Given the description of an element on the screen output the (x, y) to click on. 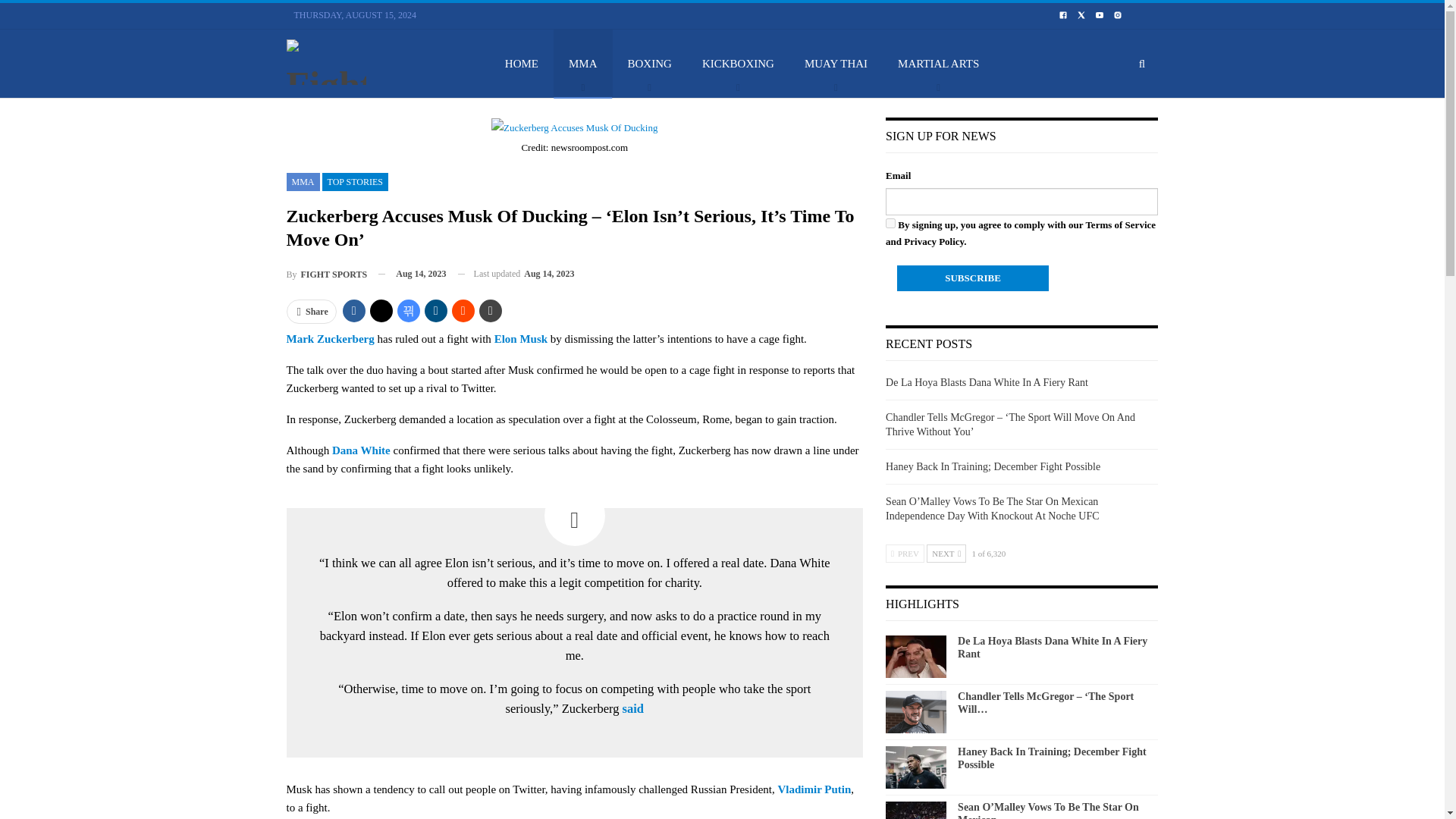
BOXING (649, 63)
KICKBOXING (738, 63)
Subscribe (972, 278)
HOME (521, 63)
youtube (1099, 13)
instagram (1117, 13)
twitter (1080, 13)
twitter (1081, 14)
facebook (1062, 13)
youtube (1098, 14)
